Given the description of an element on the screen output the (x, y) to click on. 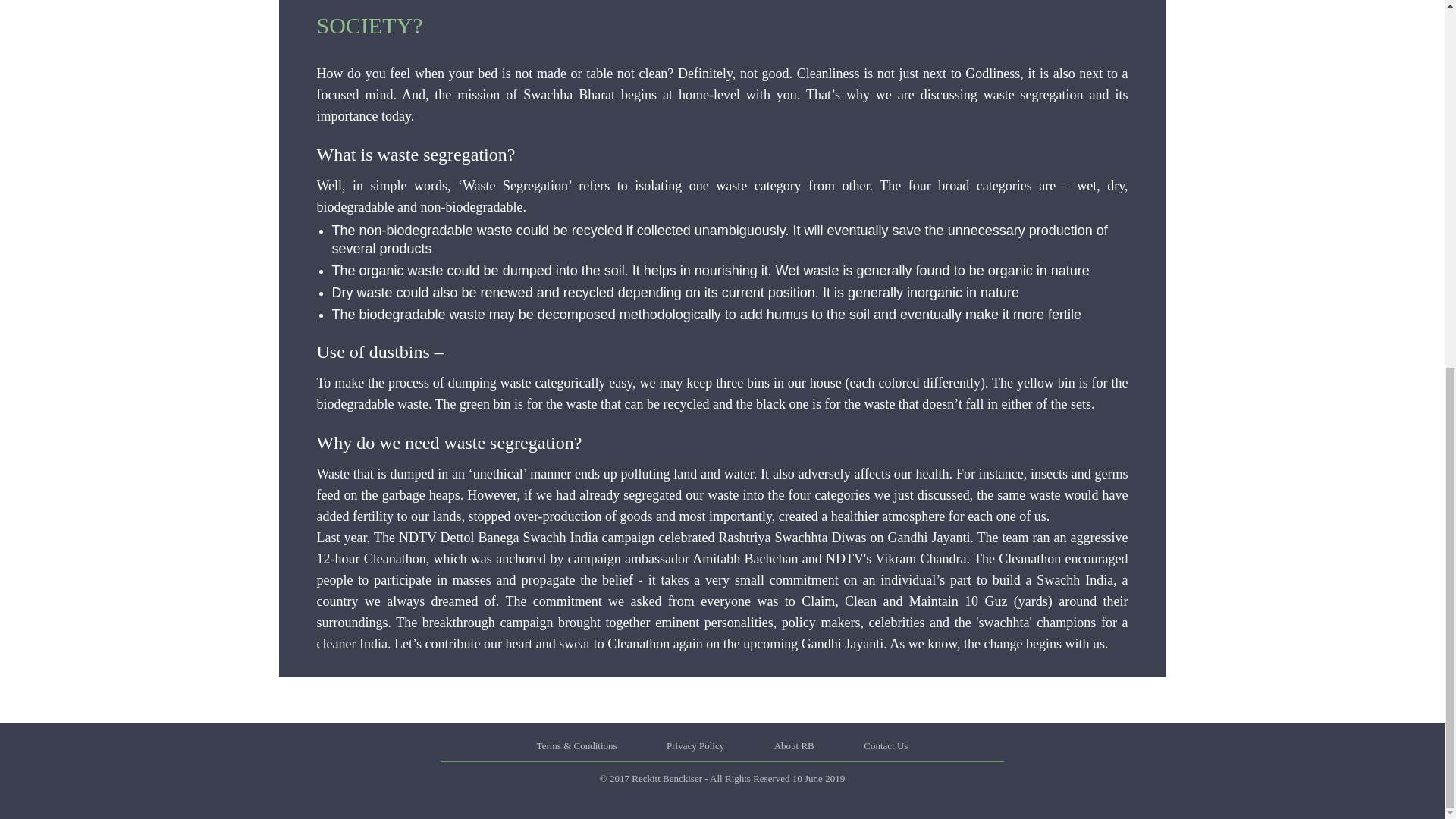
Contact Us (885, 745)
Privacy Policy (694, 745)
About RB (793, 745)
